Given the description of an element on the screen output the (x, y) to click on. 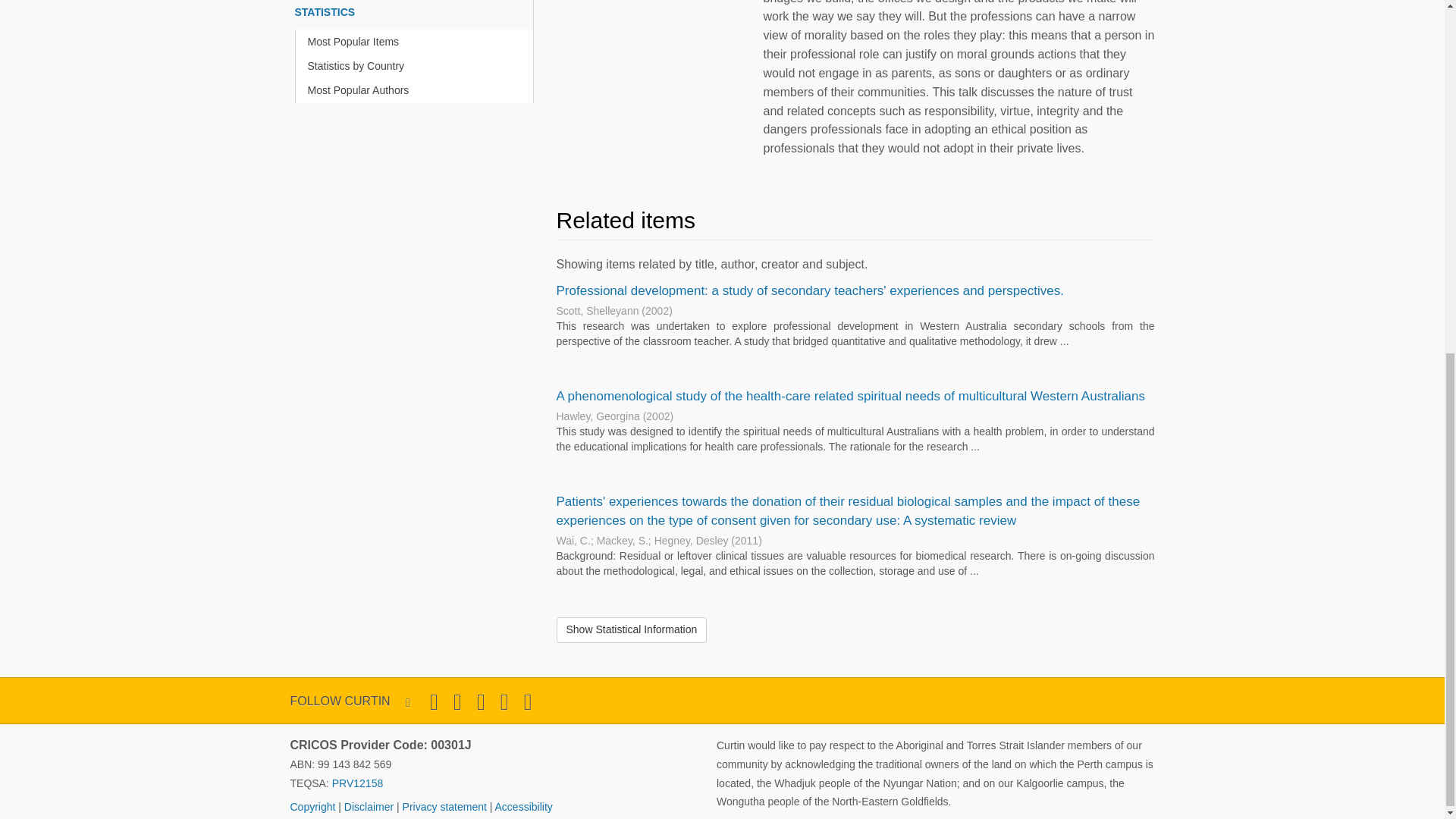
Most Popular Items (416, 41)
Show Statistical Information (631, 629)
